Given the description of an element on the screen output the (x, y) to click on. 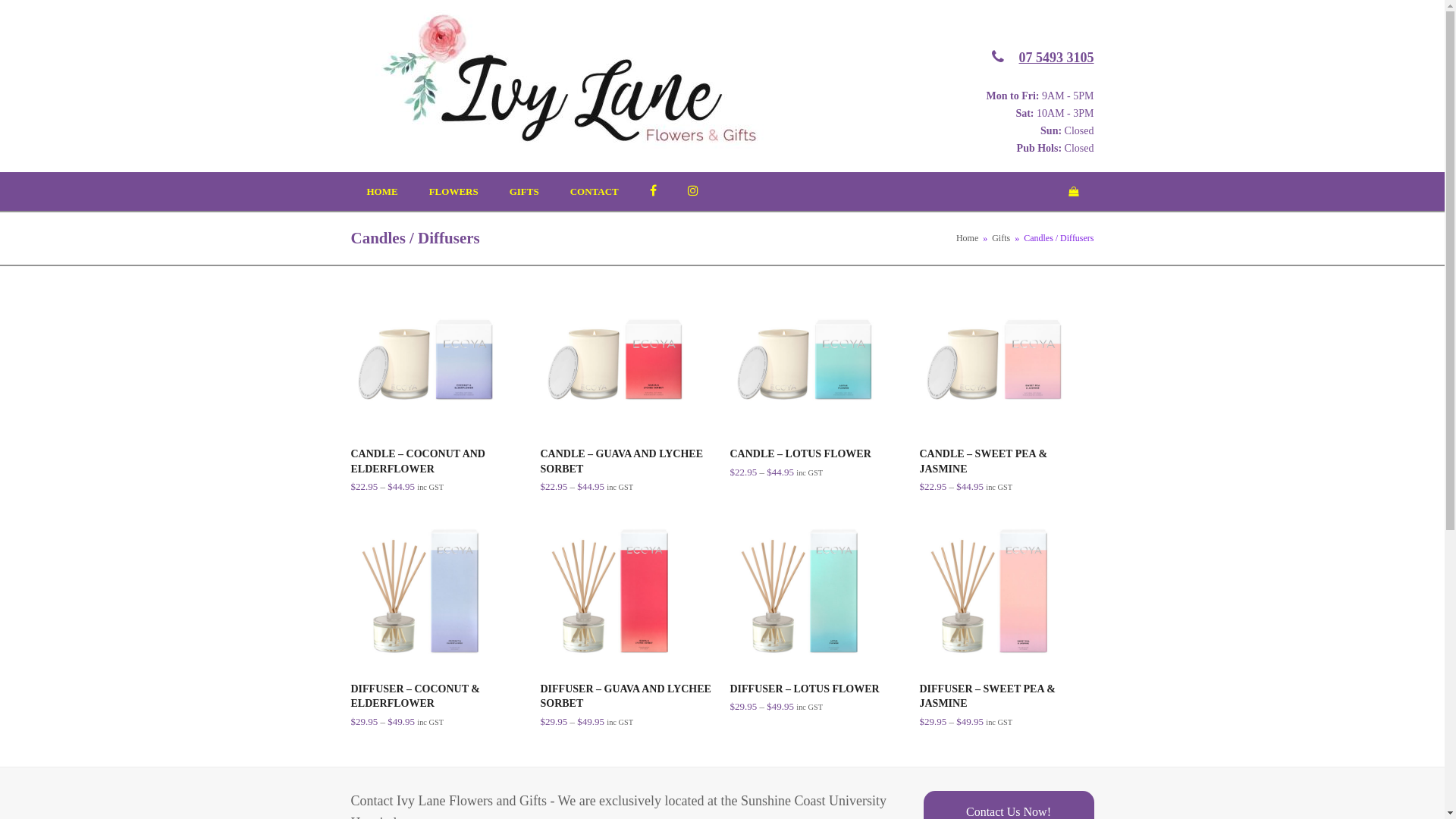
GIFTS Element type: text (524, 191)
Gifts Element type: text (1000, 237)
CONTACT Element type: text (594, 191)
FLOWERS Element type: text (453, 191)
HOME Element type: text (382, 191)
Home Element type: text (967, 237)
07 5493 3105 Element type: text (1056, 57)
